Given the description of an element on the screen output the (x, y) to click on. 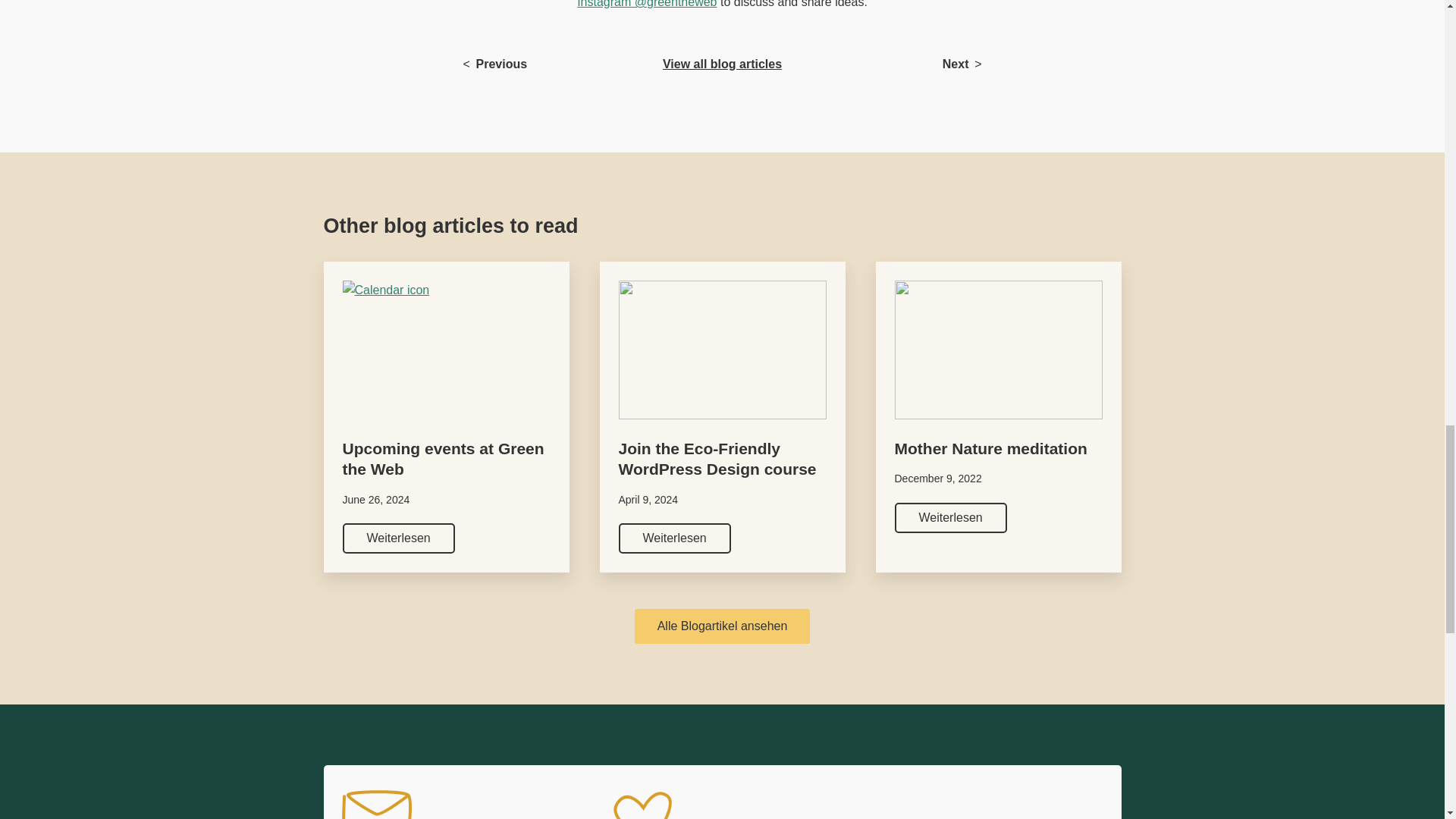
View all blog articles (721, 63)
Next (955, 63)
Join the Eco-Friendly WordPress Design course (722, 458)
Previous (398, 538)
Upcoming events at Green the Web (501, 63)
